Given the description of an element on the screen output the (x, y) to click on. 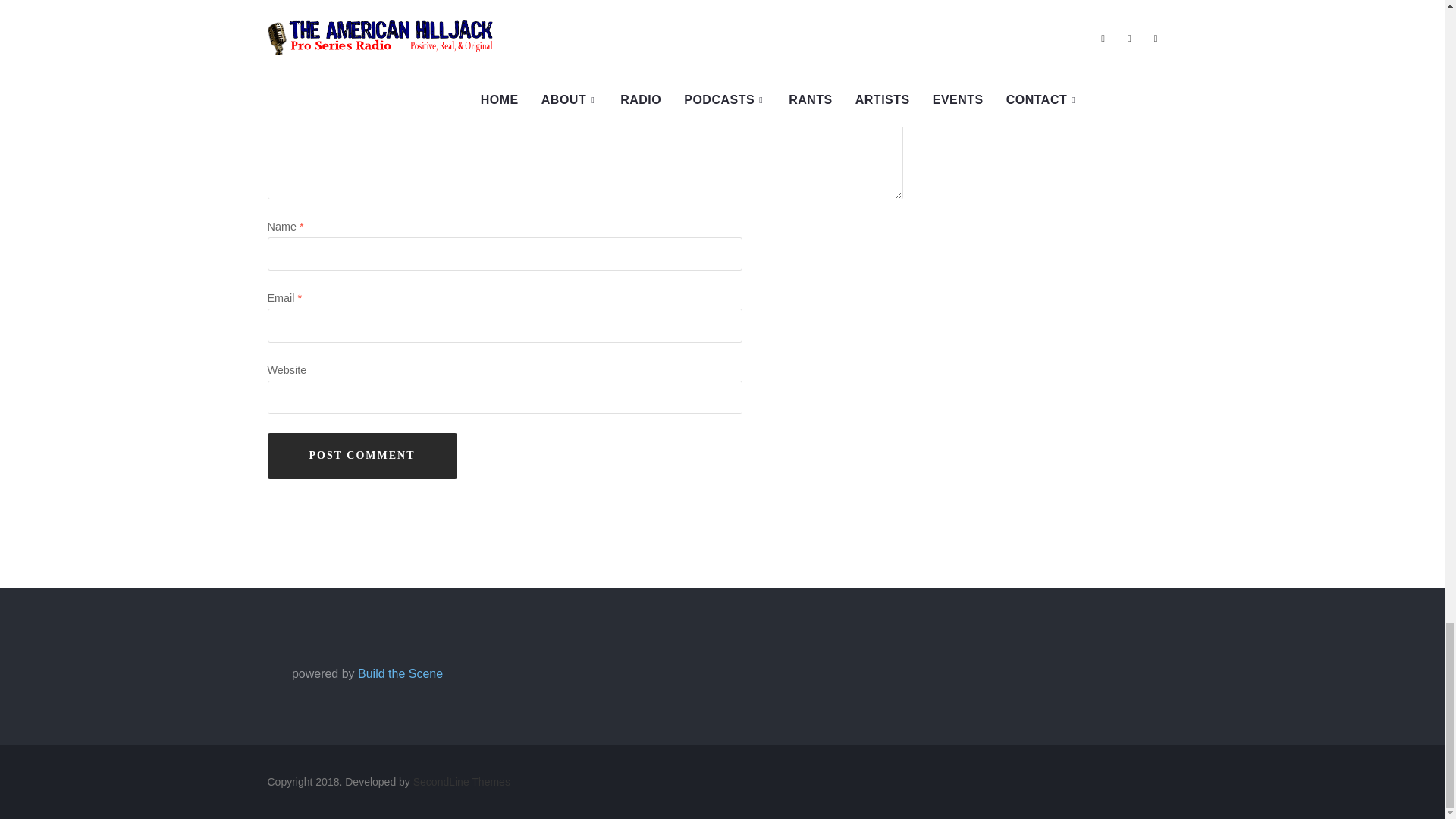
Post Comment (361, 455)
